Given the description of an element on the screen output the (x, y) to click on. 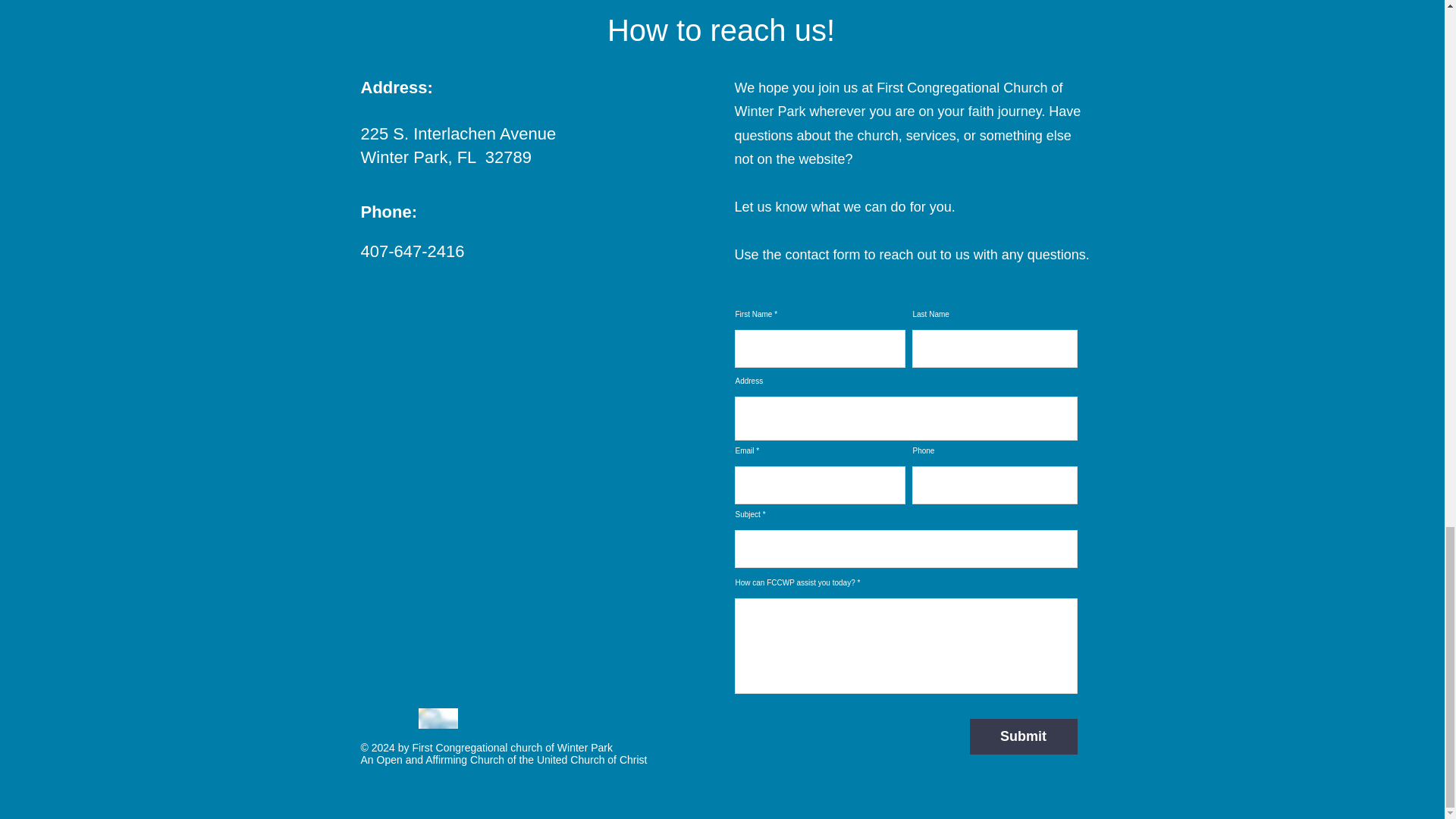
Submit (1023, 736)
